Given the description of an element on the screen output the (x, y) to click on. 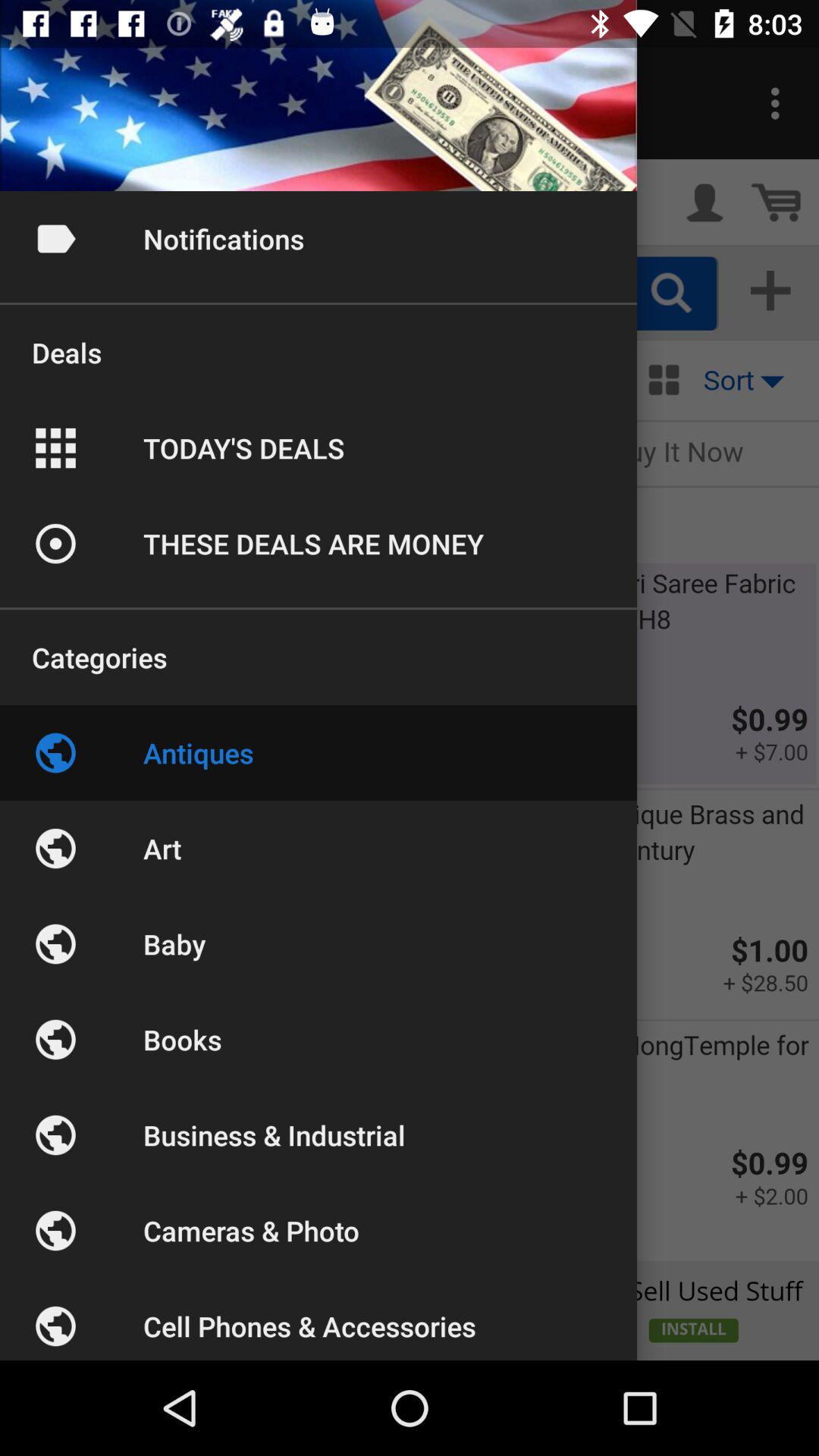
click on the icon after the text antiques (55, 848)
click on the icon left to business  industrial (55, 1134)
click on the icon which is to the left side of the notifications (55, 238)
click on the earth icon which to the left of antiques button (55, 752)
